Given the description of an element on the screen output the (x, y) to click on. 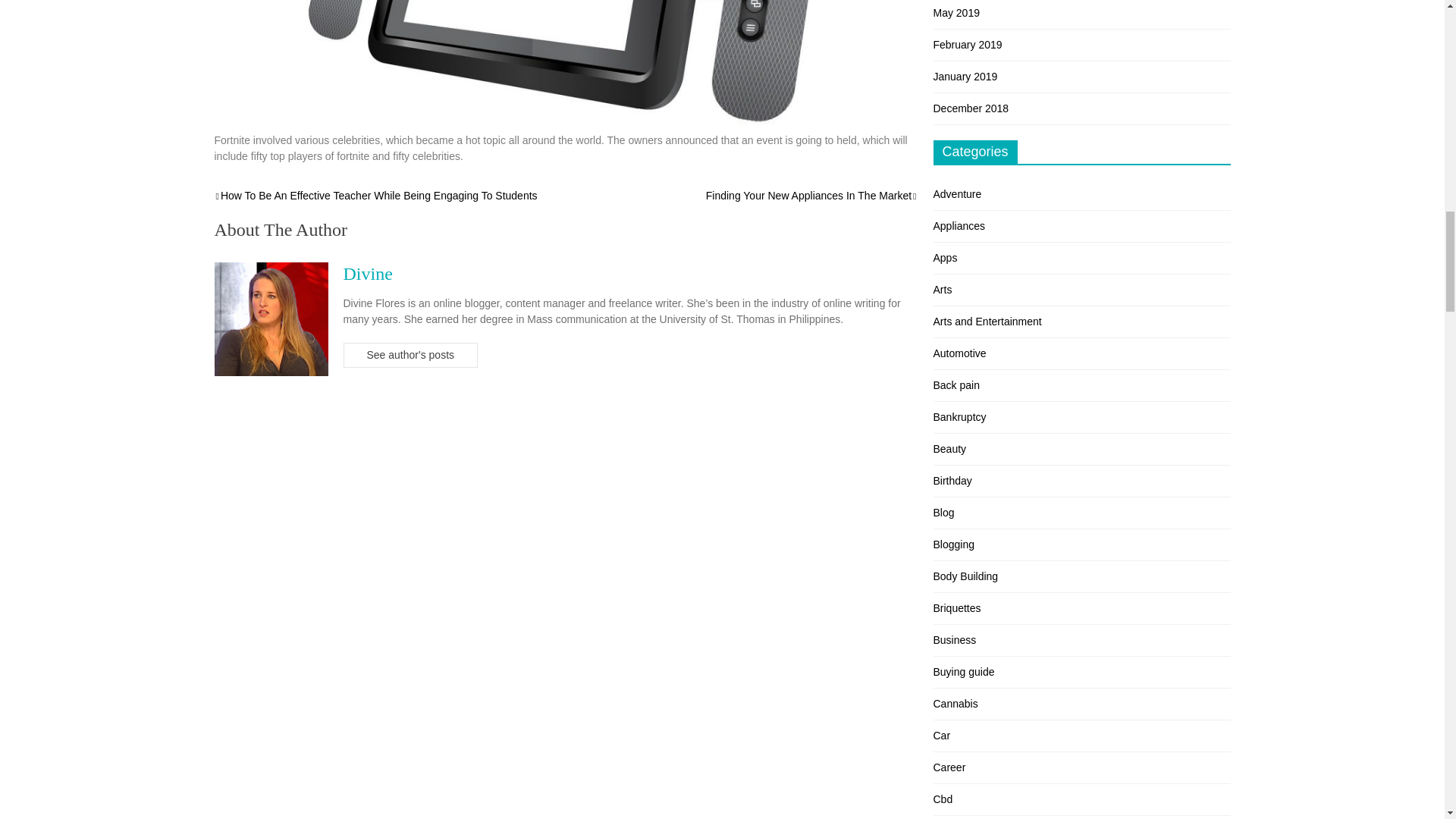
Divine (366, 273)
See author's posts (409, 355)
Finding Your New Appliances In The Market (812, 195)
